Given the description of an element on the screen output the (x, y) to click on. 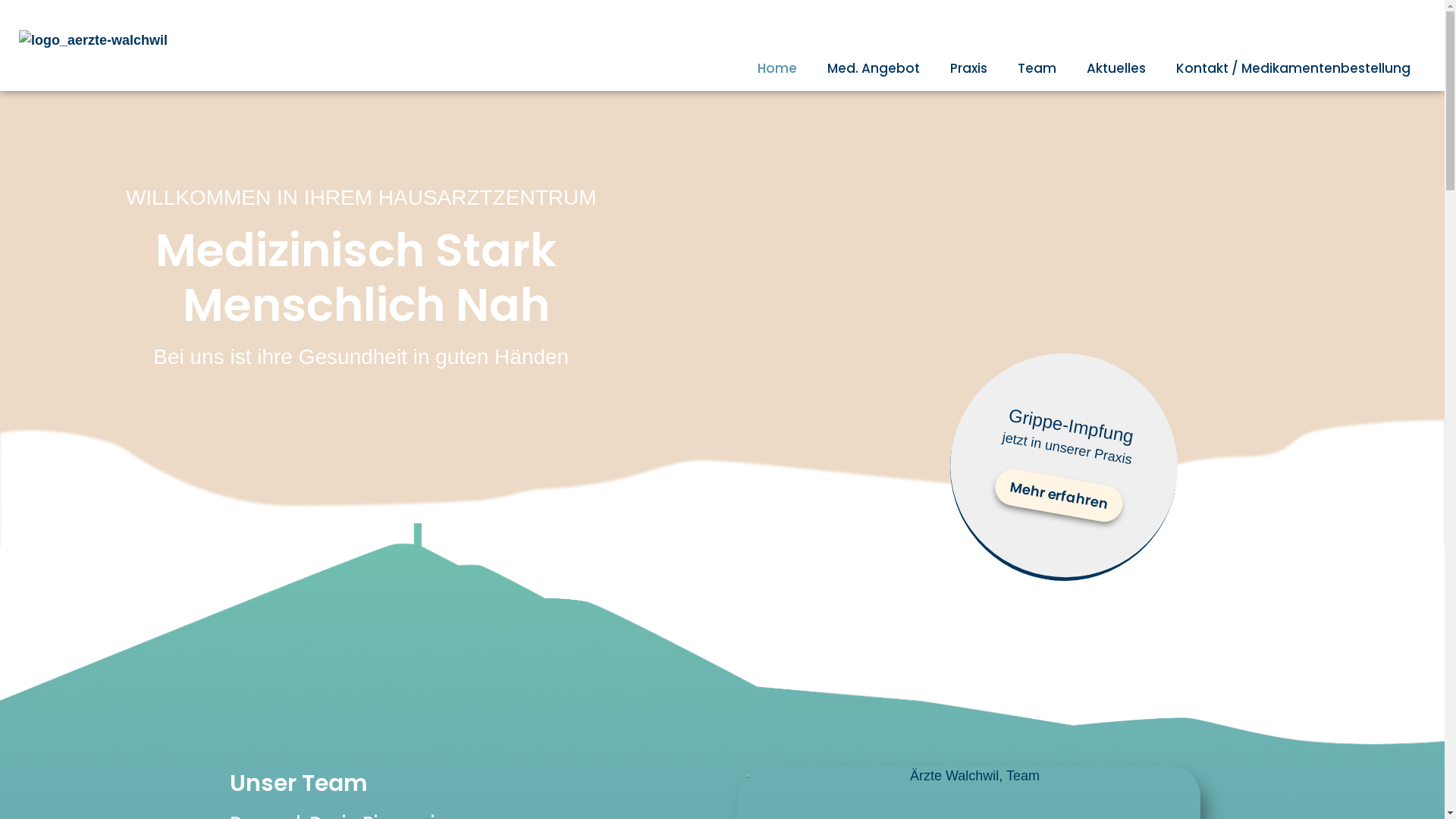
Med. Angebot Element type: text (873, 67)
Mehr erfahren Element type: text (1055, 484)
Home Element type: text (777, 67)
Praxis Element type: text (968, 67)
Kontakt / Medikamentenbestellung Element type: text (1293, 67)
Team Element type: text (1036, 67)
Aktuelles Element type: text (1116, 67)
